Given the description of an element on the screen output the (x, y) to click on. 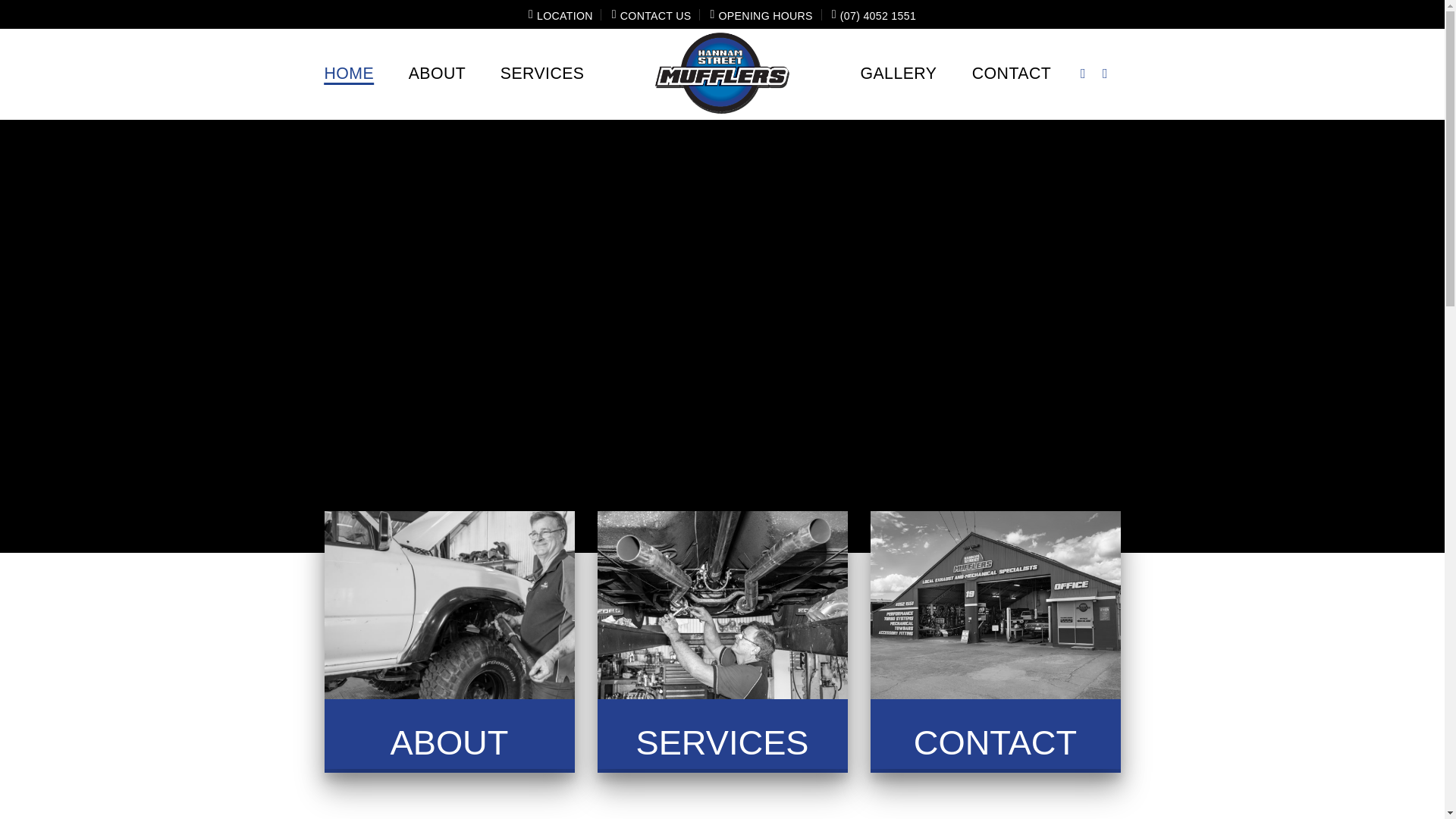
CONTACT Element type: text (994, 743)
HOME Element type: text (349, 73)
SERVICES Element type: text (542, 73)
ABOUT Element type: text (449, 743)
Hannam Street Mufflers - Hannam Street Mufflers Element type: hover (721, 73)
Follow on Instagram Element type: hover (1109, 73)
CONTACT US Element type: text (651, 14)
(07) 4052 1551 Element type: text (873, 14)
CONTACT Element type: text (1011, 73)
Follow on Facebook Element type: hover (1087, 73)
LOCATION Element type: text (560, 14)
ABOUT Element type: text (437, 73)
SERVICES Element type: text (721, 743)
OPENING HOURS Element type: text (760, 14)
GALLERY Element type: text (897, 73)
